Given the description of an element on the screen output the (x, y) to click on. 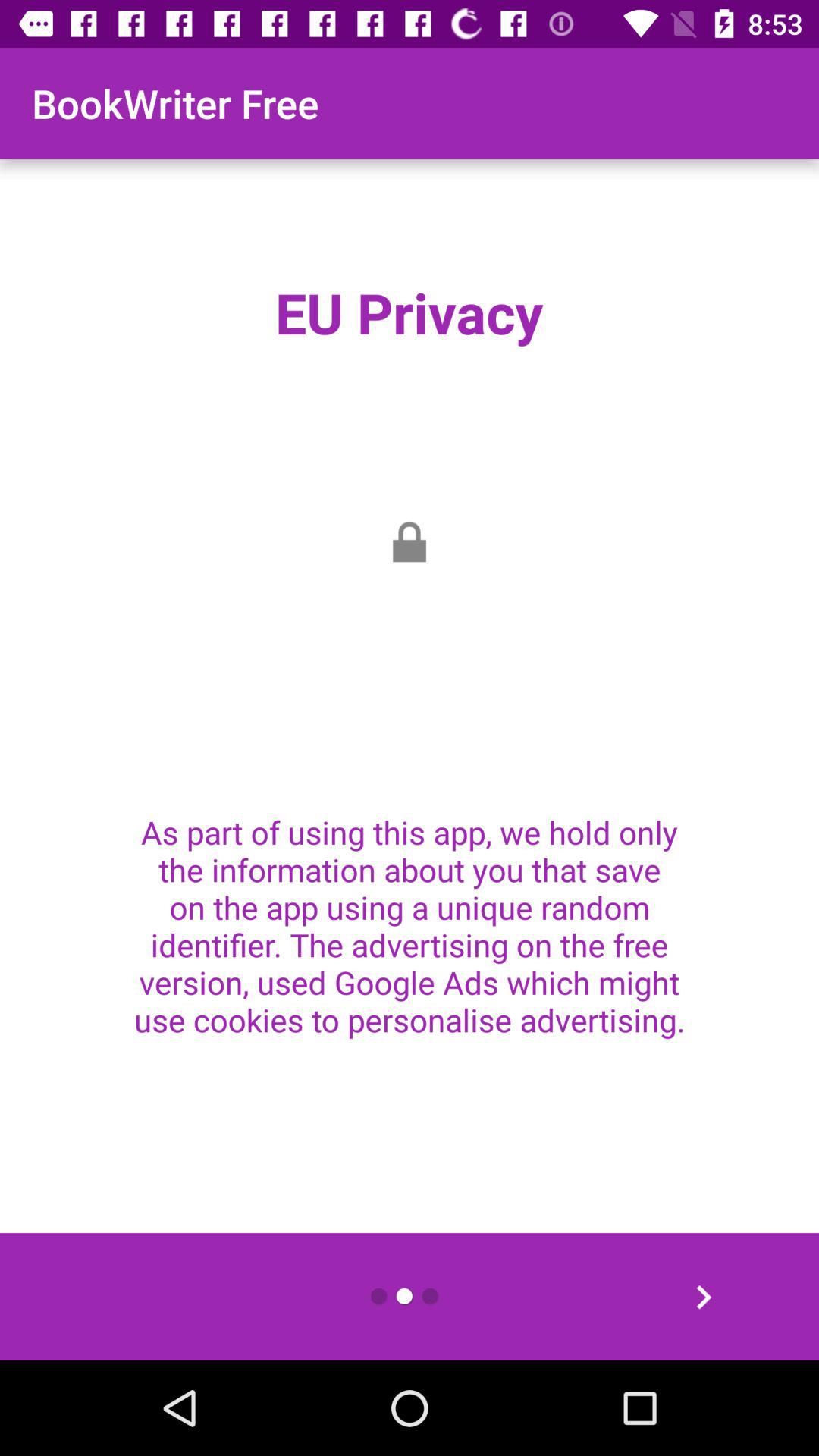
tap the icon below as part of icon (703, 1296)
